Given the description of an element on the screen output the (x, y) to click on. 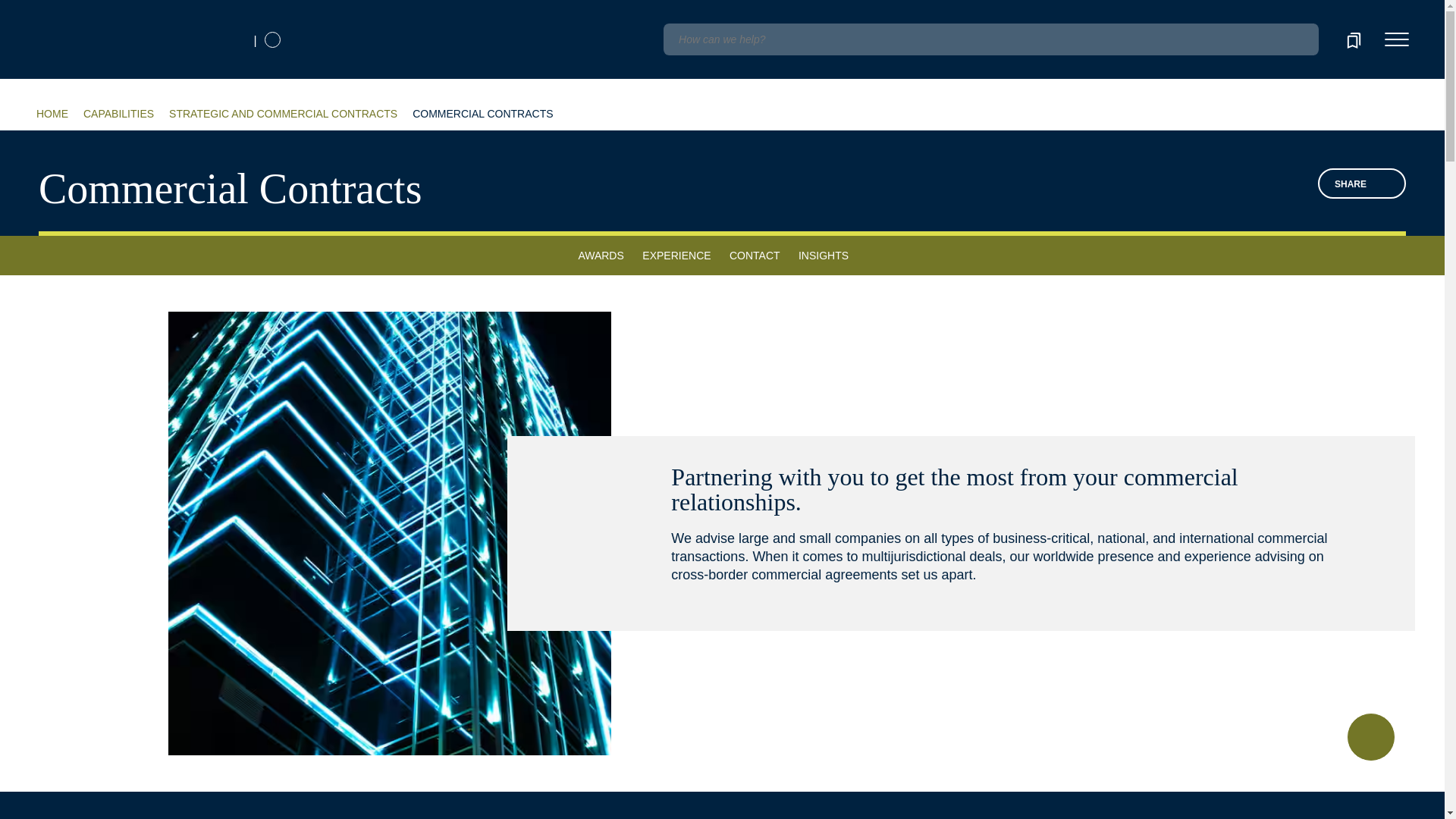
AWARDS (601, 250)
CONTACT (754, 250)
INSIGHTS (822, 250)
CAPABILITIES (118, 113)
STRATEGIC AND COMMERCIAL CONTRACTS (282, 113)
Insert a query. Press enter to send (990, 39)
HOME (52, 113)
EXPERIENCE (676, 250)
